Given the description of an element on the screen output the (x, y) to click on. 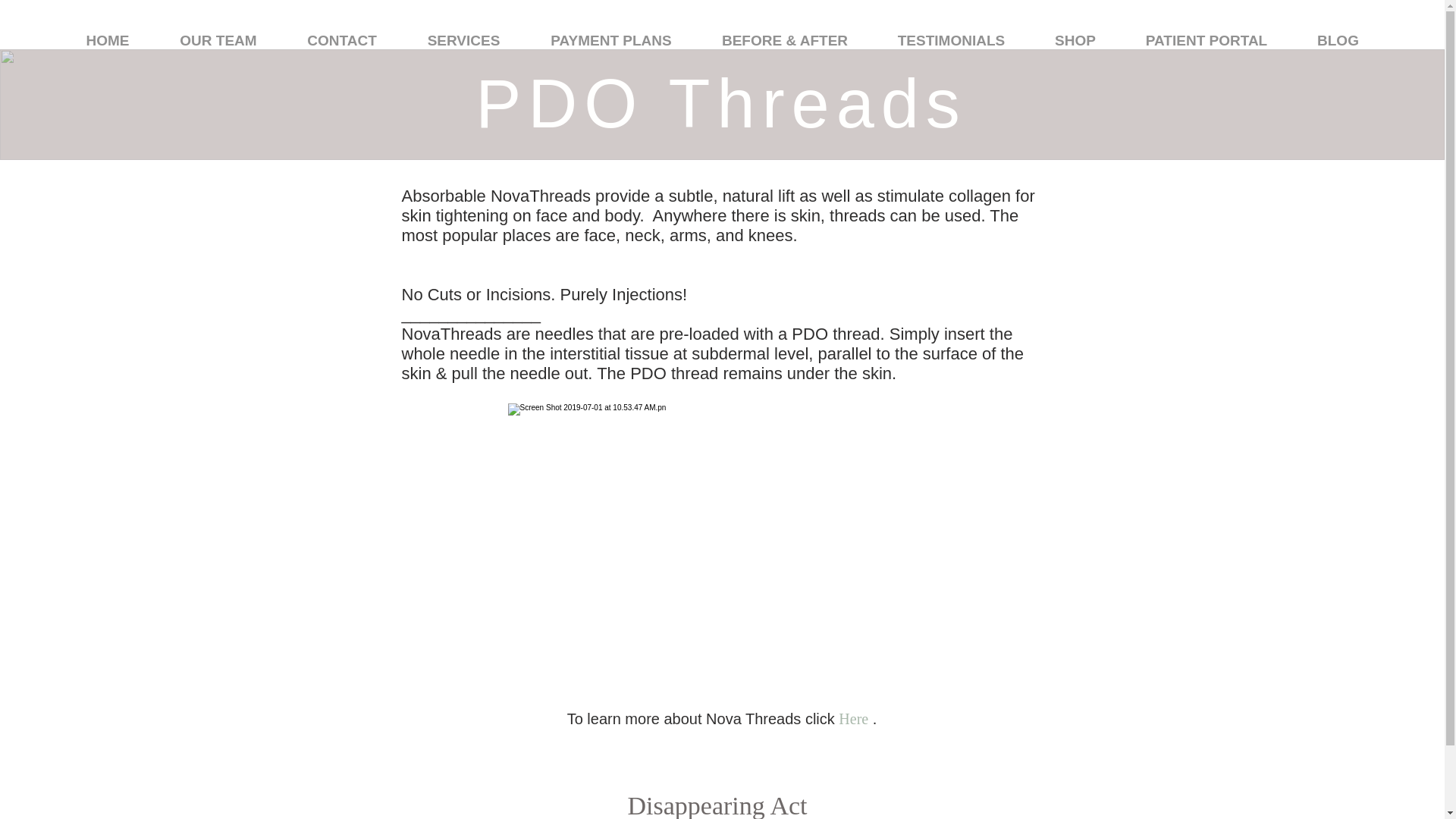
TESTIMONIALS (950, 40)
PAYMENT PLANS (611, 40)
SERVICES (463, 40)
OUR TEAM (218, 40)
SHOP (1075, 40)
PATIENT PORTAL (1206, 40)
Here (855, 718)
CONTACT (341, 40)
BLOG (1338, 40)
HOME (107, 40)
